Given the description of an element on the screen output the (x, y) to click on. 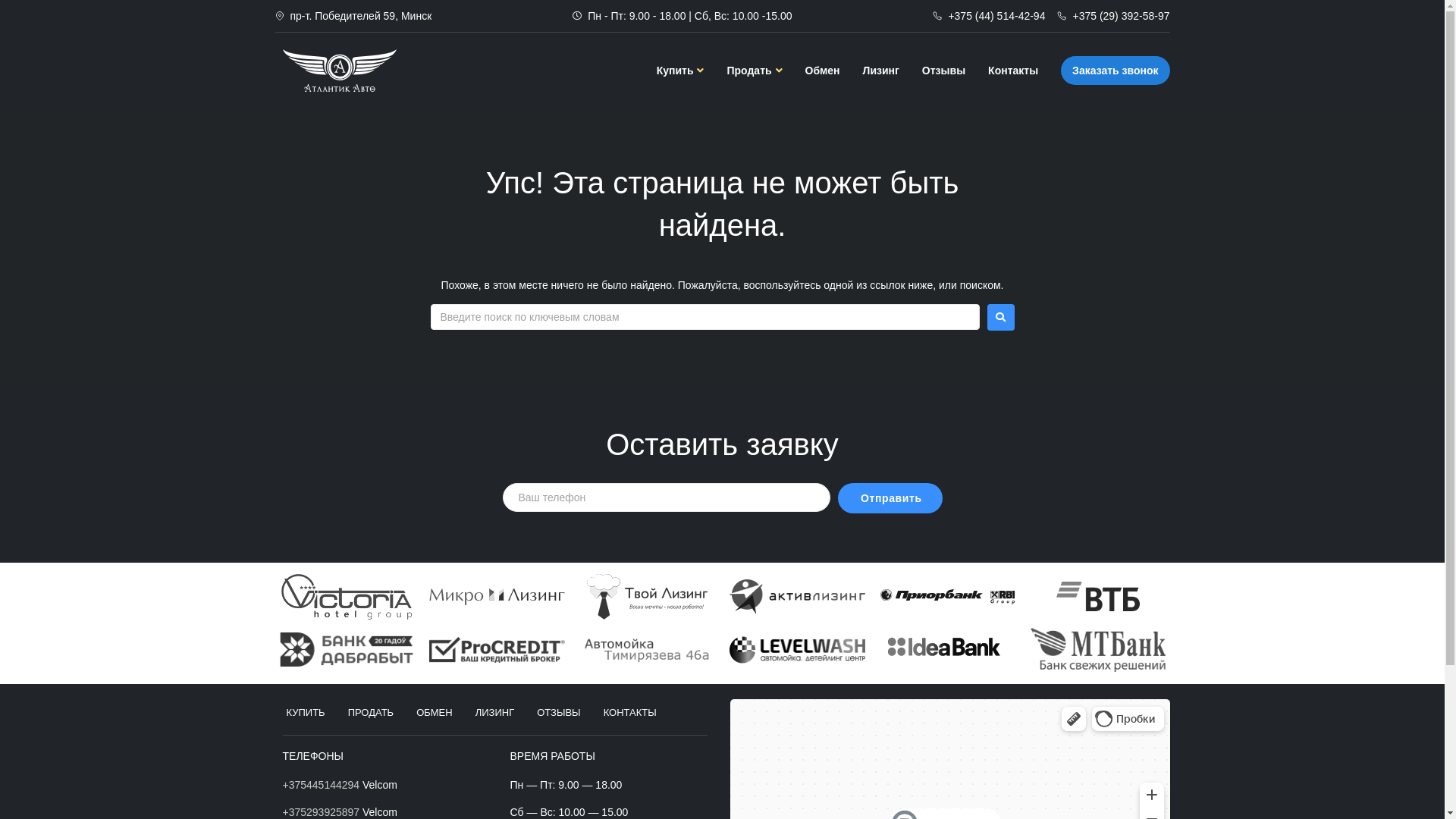
+375 (29) 392-58-97 Element type: text (1113, 15)
+375445144294 Element type: text (320, 784)
+375 (44) 514-42-94 Element type: text (988, 15)
+375293925897 Element type: text (320, 812)
